Given the description of an element on the screen output the (x, y) to click on. 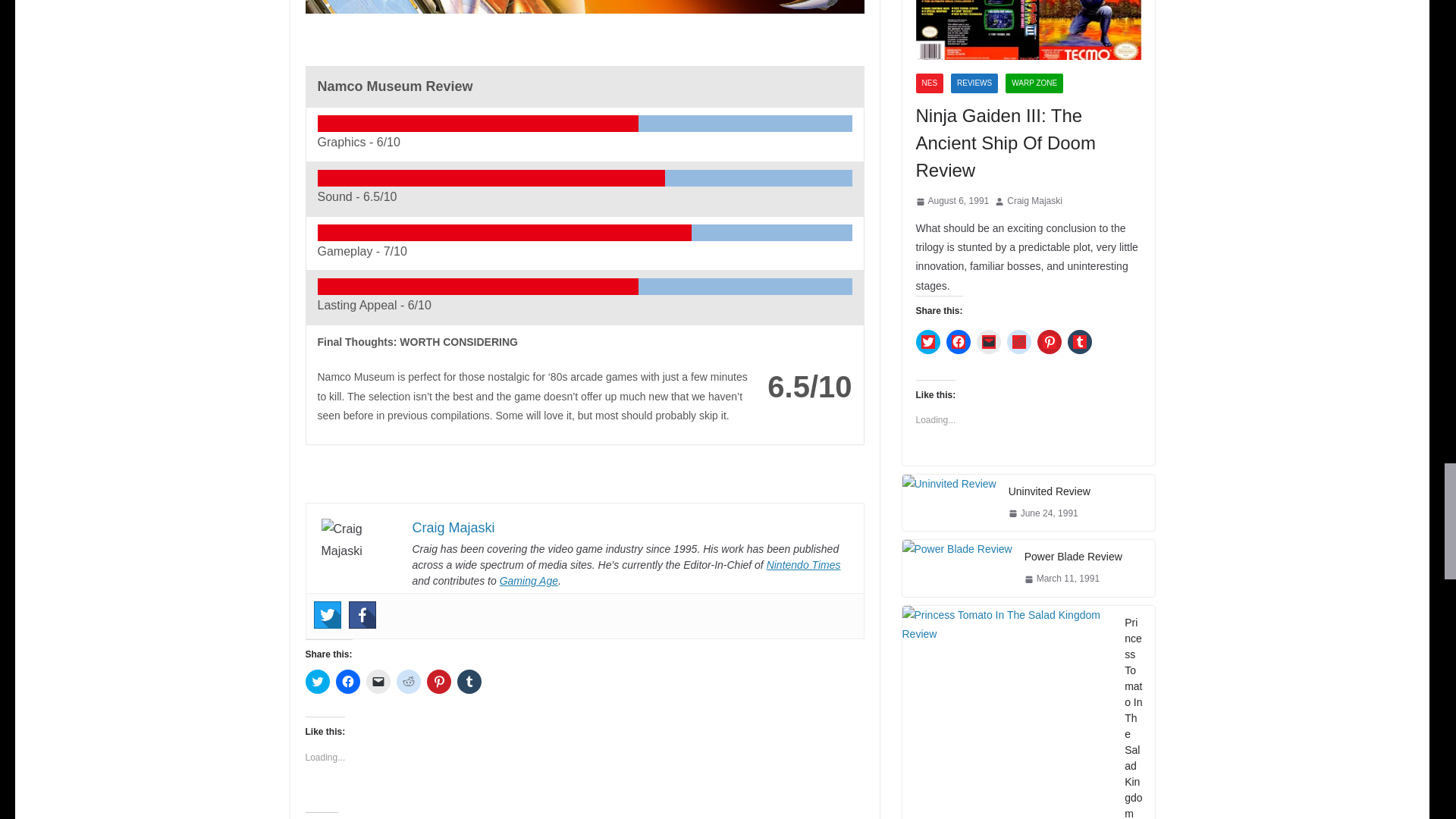
Craig Majaski (453, 527)
Click to share on Pinterest (437, 681)
Nintendo Times (804, 564)
Click to share on Facebook (346, 681)
Twitter (327, 614)
Click to share on Reddit (408, 681)
Facebook (362, 614)
Click to share on Tumblr (468, 681)
Click to share on Twitter (316, 681)
Click to email a link to a friend (377, 681)
Gaming Age (528, 580)
